Given the description of an element on the screen output the (x, y) to click on. 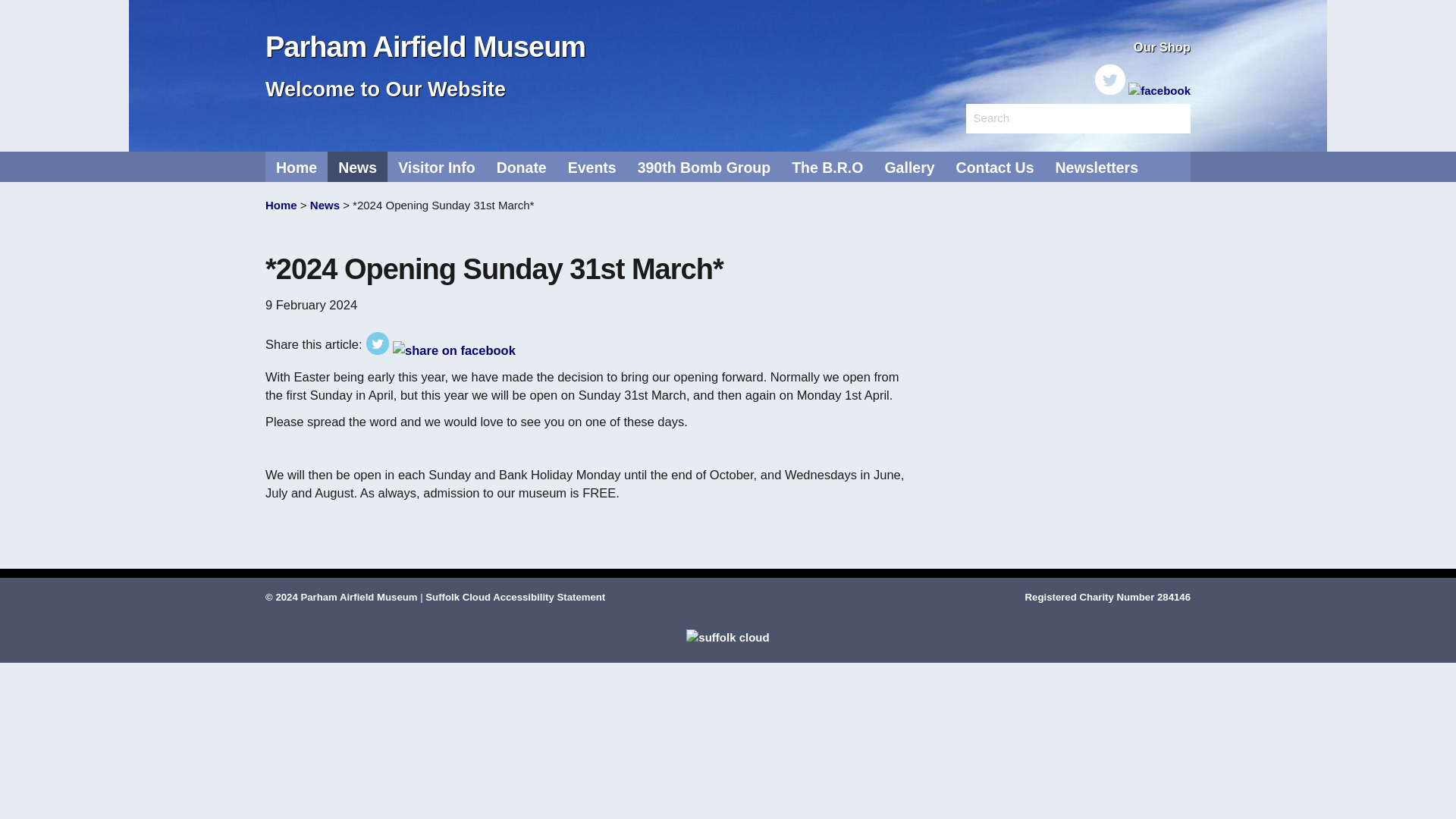
Go (1173, 122)
390th Bomb Group (704, 166)
Home (280, 205)
Home (295, 166)
Go (1173, 122)
Donate (521, 166)
News (326, 205)
Contact Us (994, 166)
Search (1022, 118)
Events (592, 166)
